Given the description of an element on the screen output the (x, y) to click on. 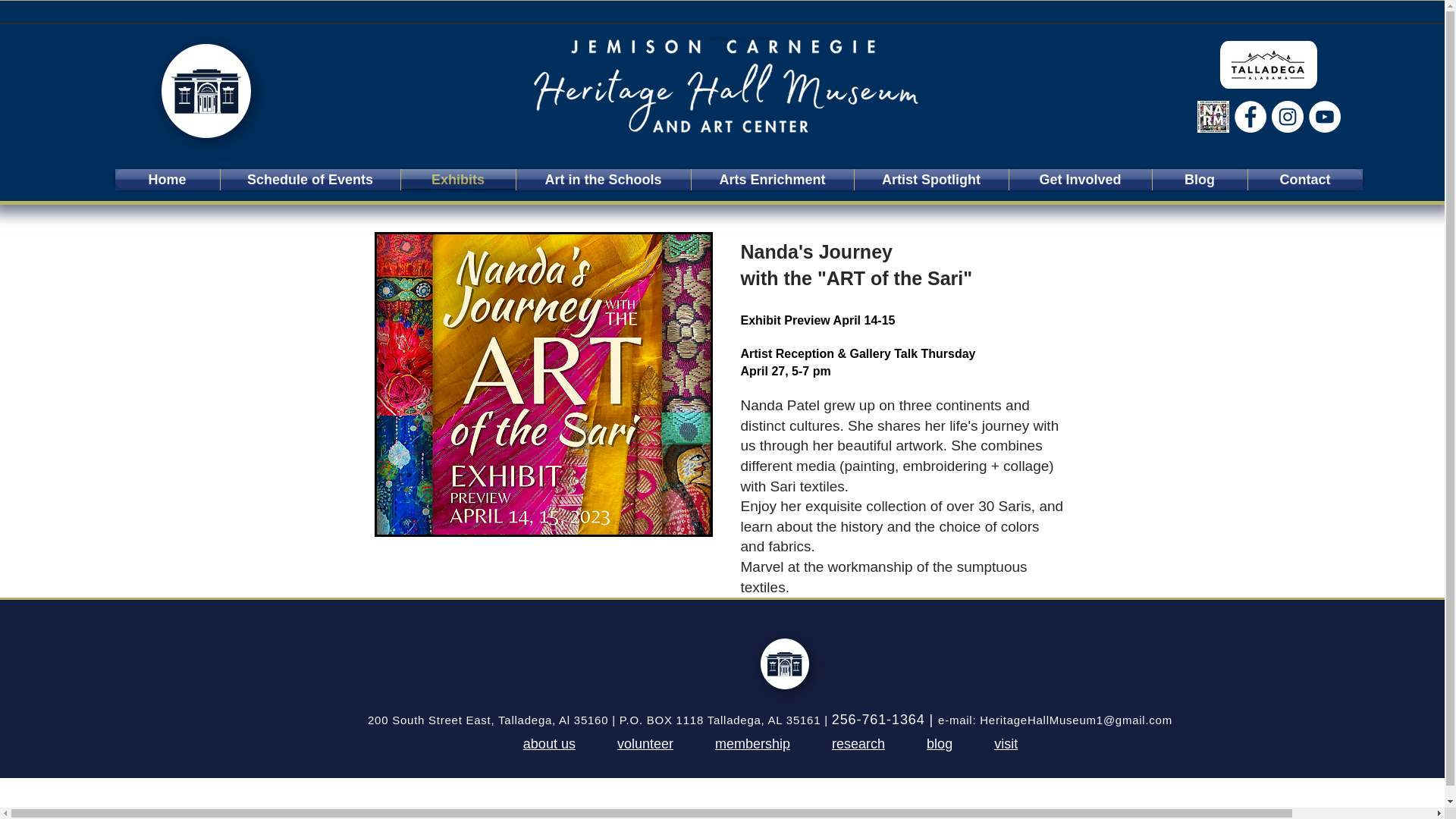
Exhibits (457, 179)
Schedule of Events (308, 179)
Home (167, 179)
Art in the Schools (602, 179)
823df0b3-e90c-4f9a-8f7f-eee5660fa304-lar (1267, 65)
Artist Spotlight (930, 179)
HERITAGE HALL MUSEUM (738, 38)
Get Involved (1080, 179)
Arts Enrichment (772, 179)
